Given the description of an element on the screen output the (x, y) to click on. 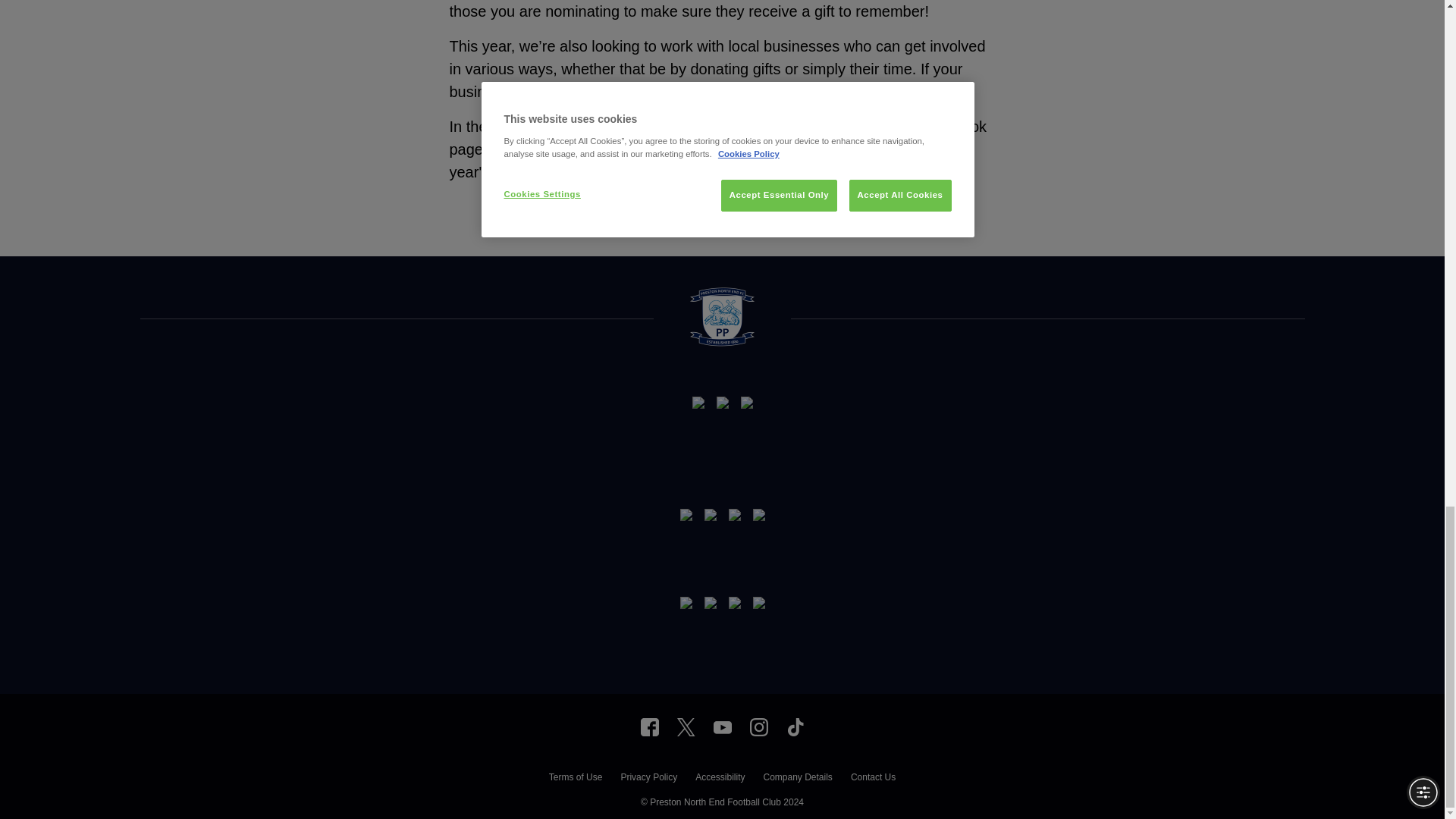
Contact Us (872, 779)
Privacy Policy (648, 779)
Terms of Use (575, 779)
Company Details (796, 779)
pnefcofficial (758, 727)
Company Details (796, 779)
OfficialPNEFC (649, 727)
Privacy Policy (648, 779)
Contact Us (872, 779)
Terms of Use (575, 779)
